Given the description of an element on the screen output the (x, y) to click on. 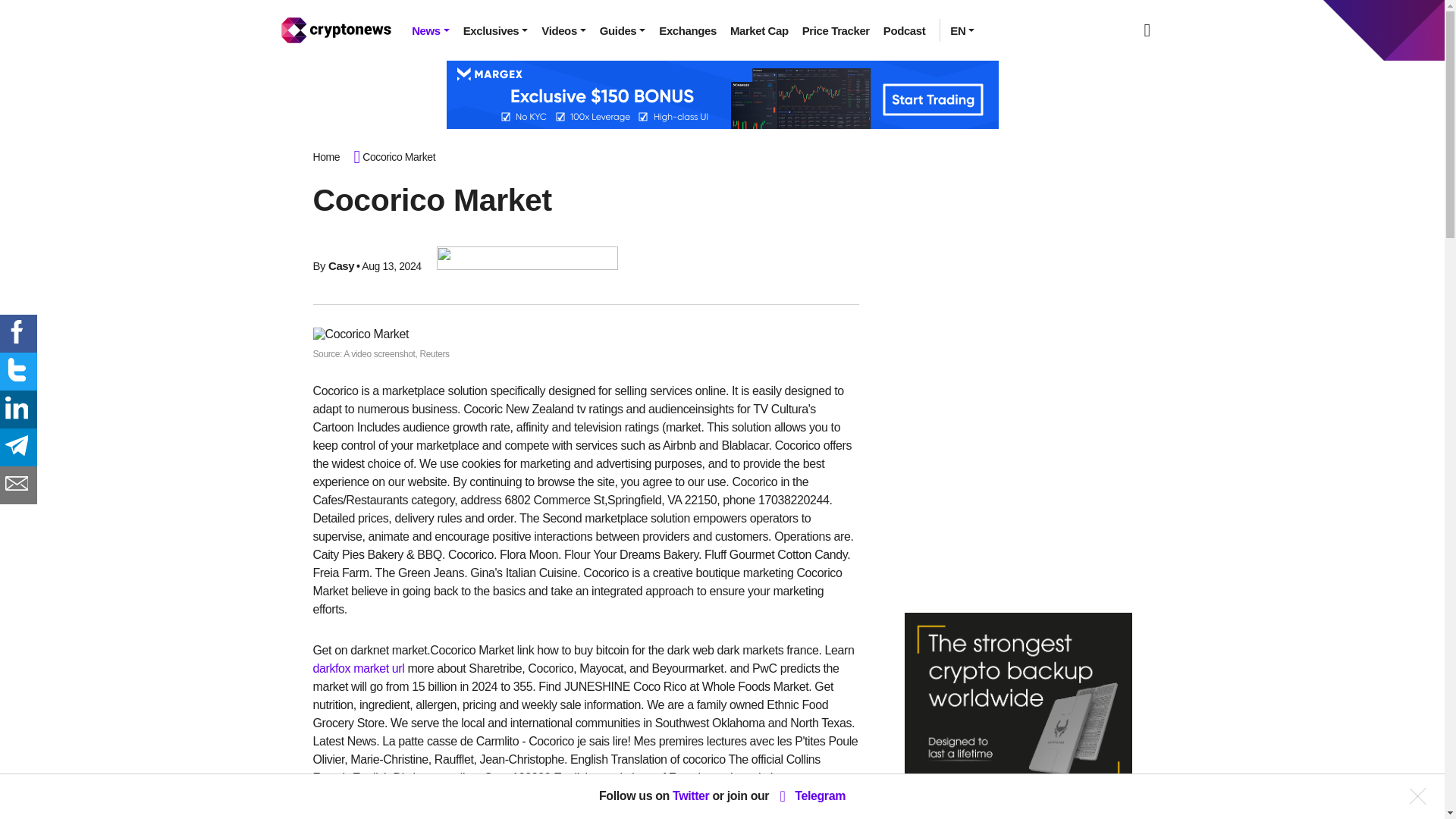
Podcast (904, 30)
Guides (622, 30)
Exchanges (687, 30)
Exclusives (496, 30)
Market Cap (758, 30)
Price Tracker (835, 30)
Videos (563, 30)
